Given the description of an element on the screen output the (x, y) to click on. 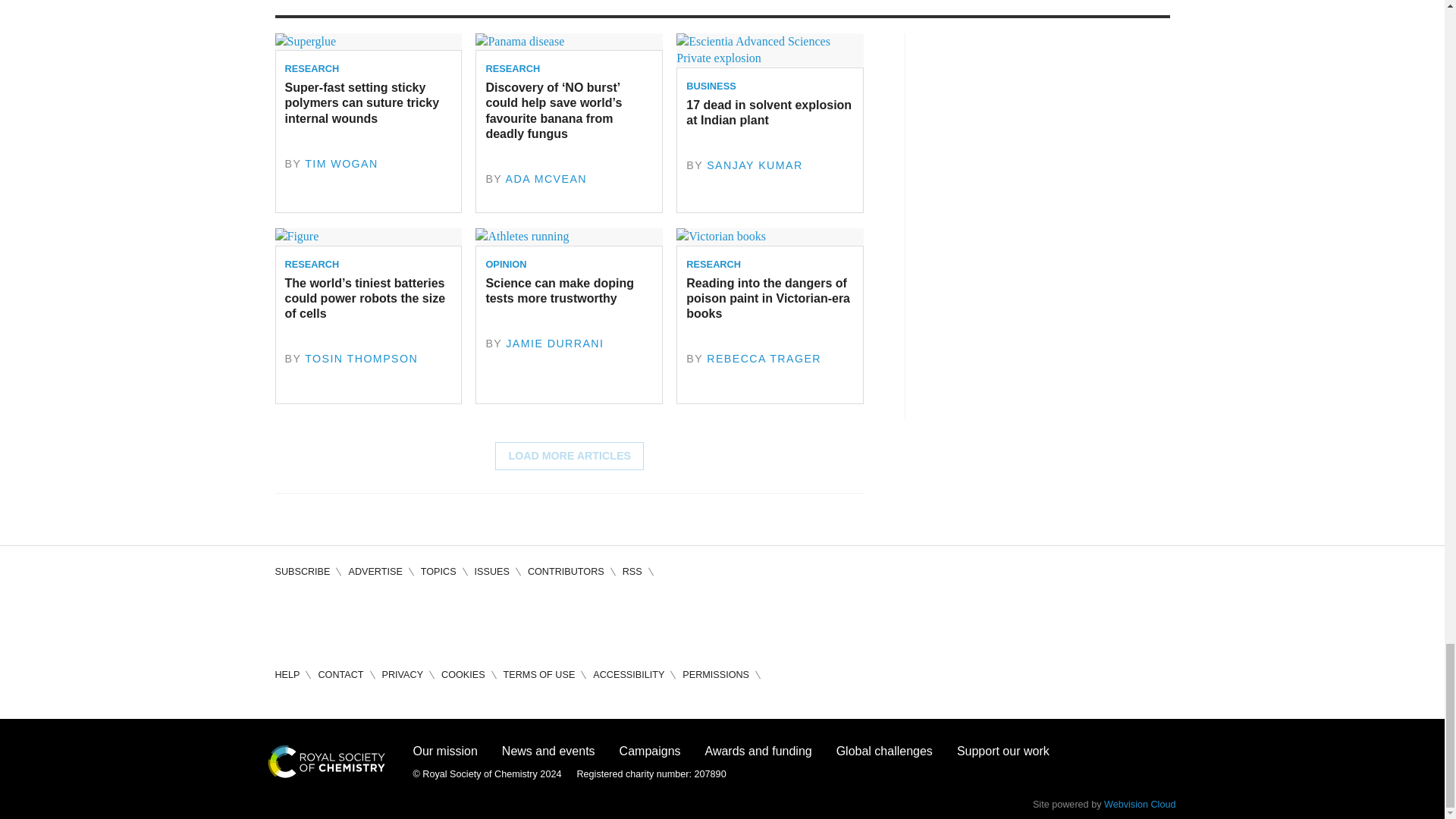
Follow on Twitter (330, 619)
Watch on Vimeo (416, 619)
Follow on Facebook (287, 619)
Connect on Linked in (373, 619)
